Given the description of an element on the screen output the (x, y) to click on. 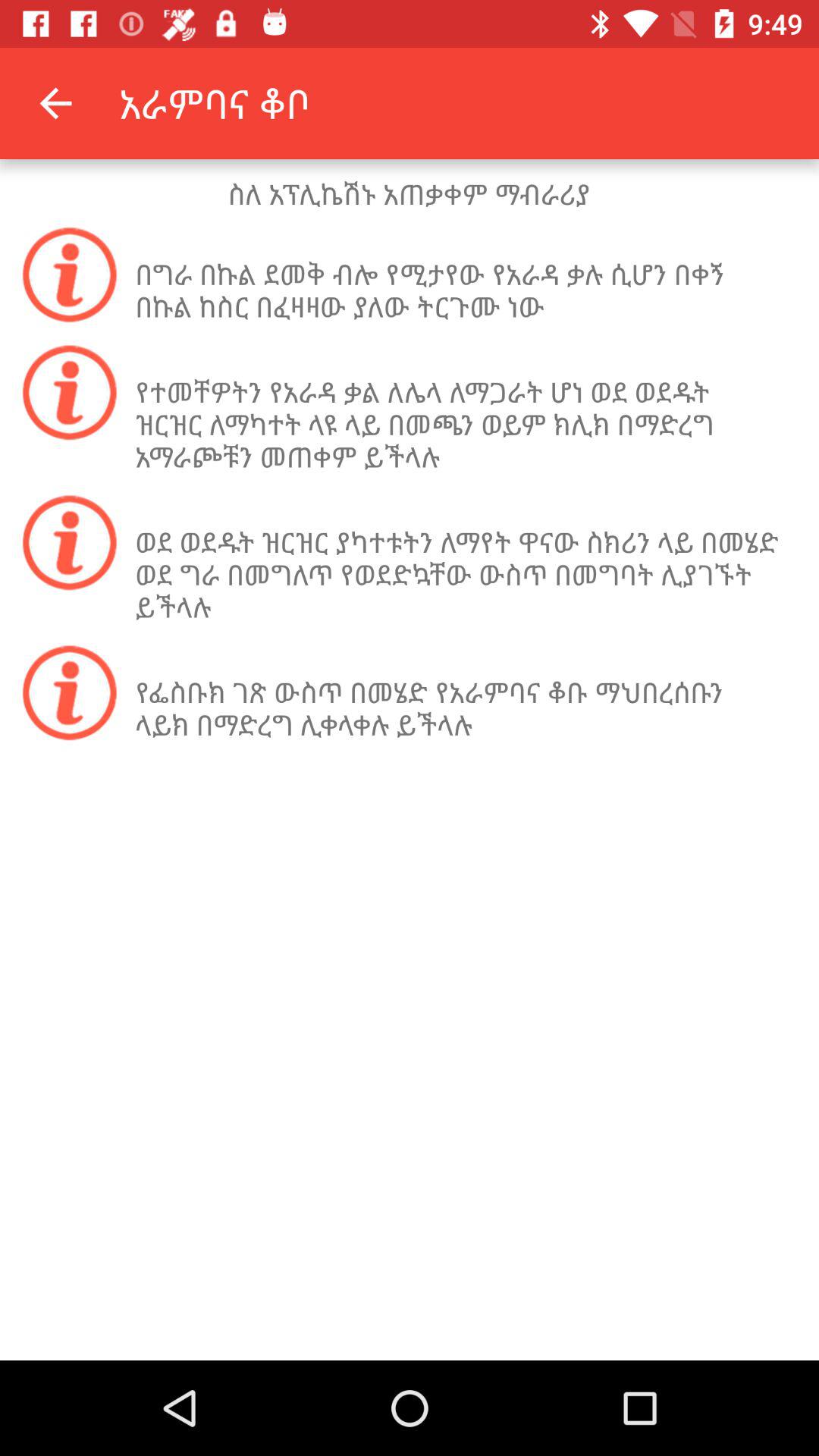
the second circle with letter i inside it (69, 392)
click the first i icon below left arrow icon (69, 274)
